Given the description of an element on the screen output the (x, y) to click on. 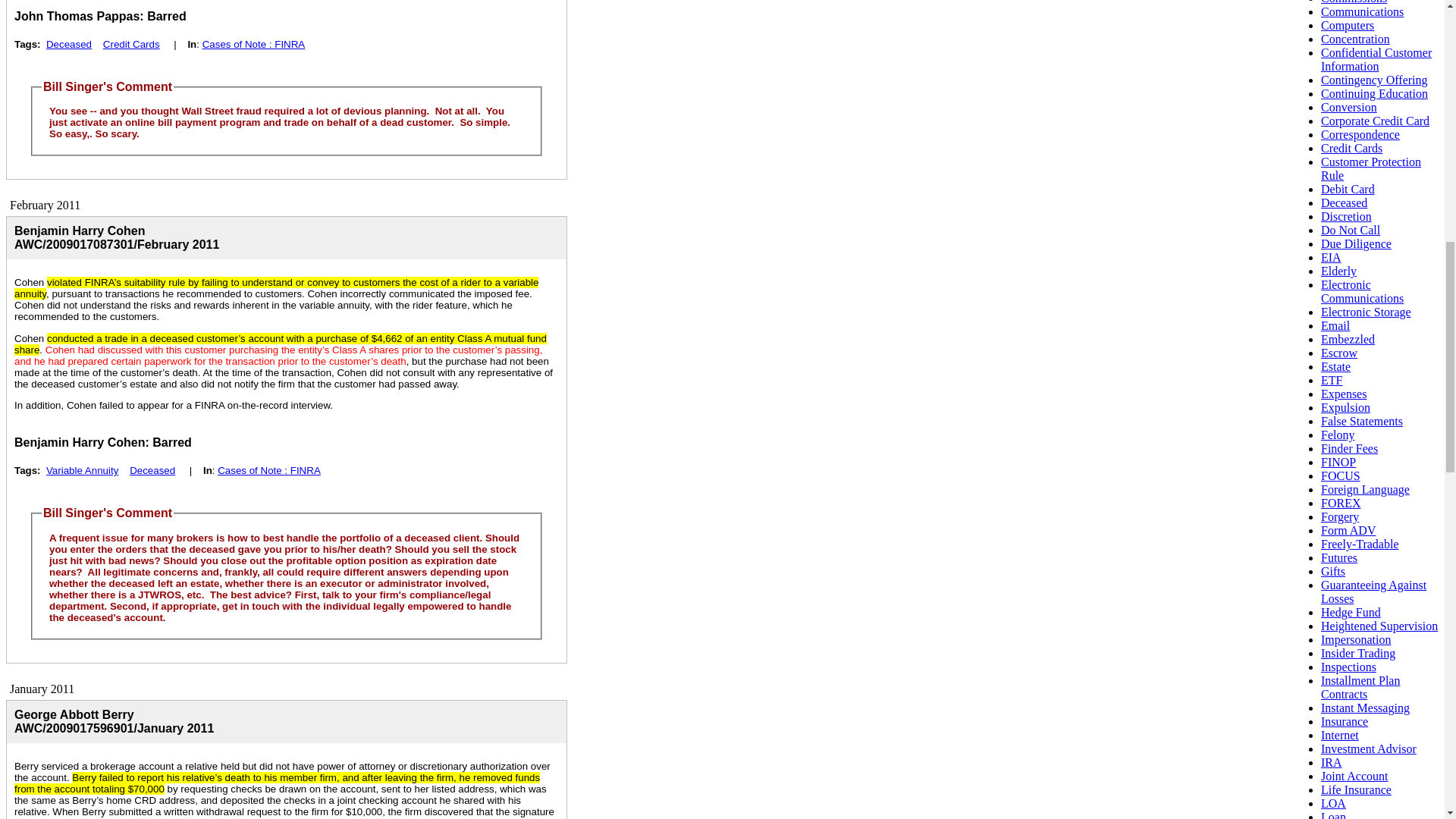
Cases of Note : FINRA (268, 470)
Deceased (151, 470)
Credit Cards (131, 43)
Deceased (68, 43)
Variable Annuity (81, 470)
Cases of Note : FINRA (253, 43)
